Given the description of an element on the screen output the (x, y) to click on. 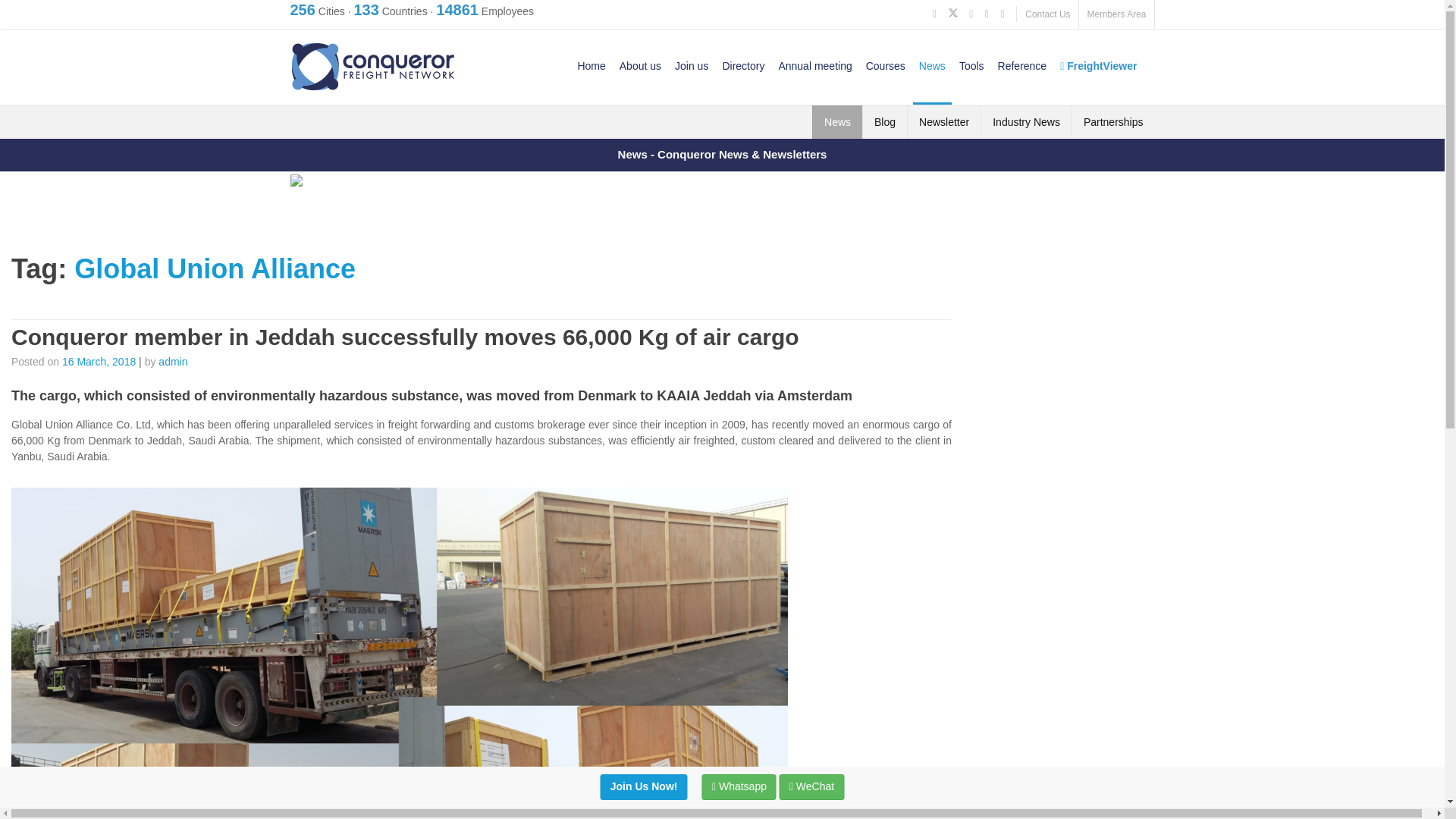
Partnerships (1113, 121)
FreightViewer (1098, 65)
Annual meeting (814, 65)
Members Area (1115, 14)
16 March, 2018 (98, 360)
admin (172, 360)
Contact Us (1047, 14)
Blog (884, 121)
Industry News (1026, 121)
Newsletter (943, 121)
News (837, 121)
